Given the description of an element on the screen output the (x, y) to click on. 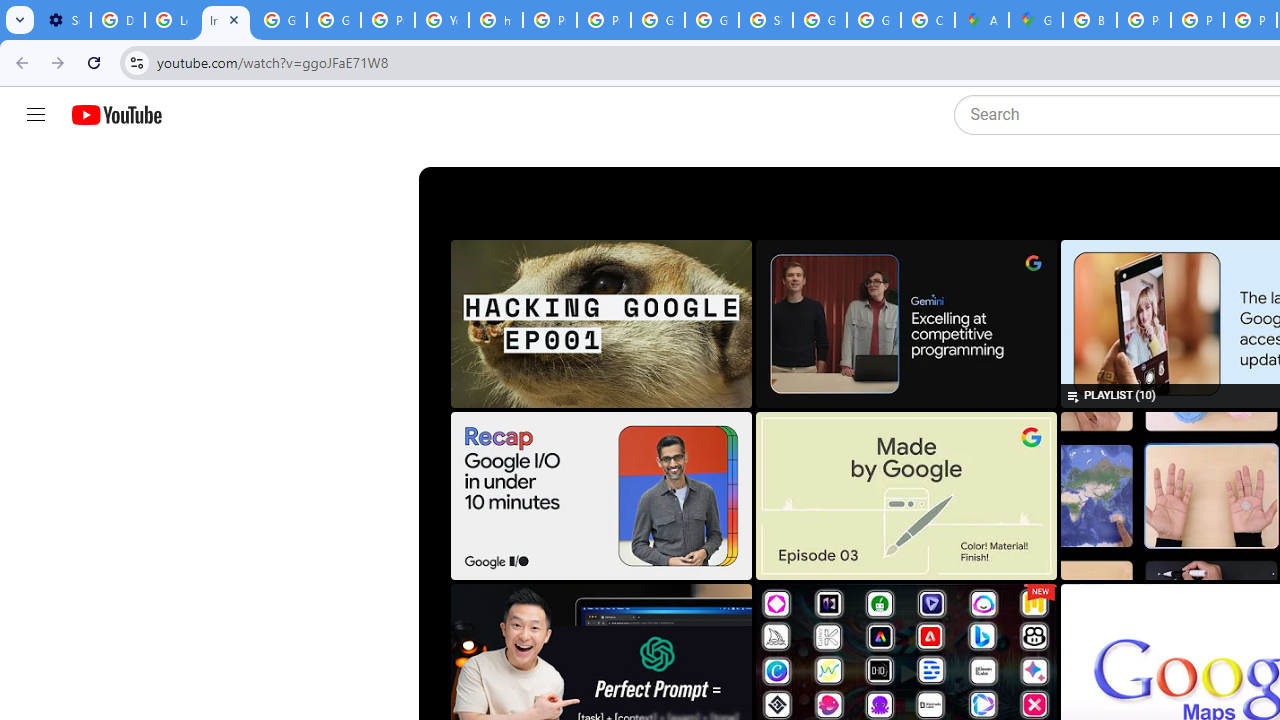
Introduction | Google Privacy Policy - YouTube (225, 20)
Privacy Help Center - Policies Help (550, 20)
Guide (35, 115)
Delete photos & videos - Computer - Google Photos Help (117, 20)
Blogger Policies and Guidelines - Transparency Center (1089, 20)
Privacy Help Center - Policies Help (387, 20)
Google Account Help (280, 20)
Privacy Help Center - Policies Help (1144, 20)
YouTube (441, 20)
